Given the description of an element on the screen output the (x, y) to click on. 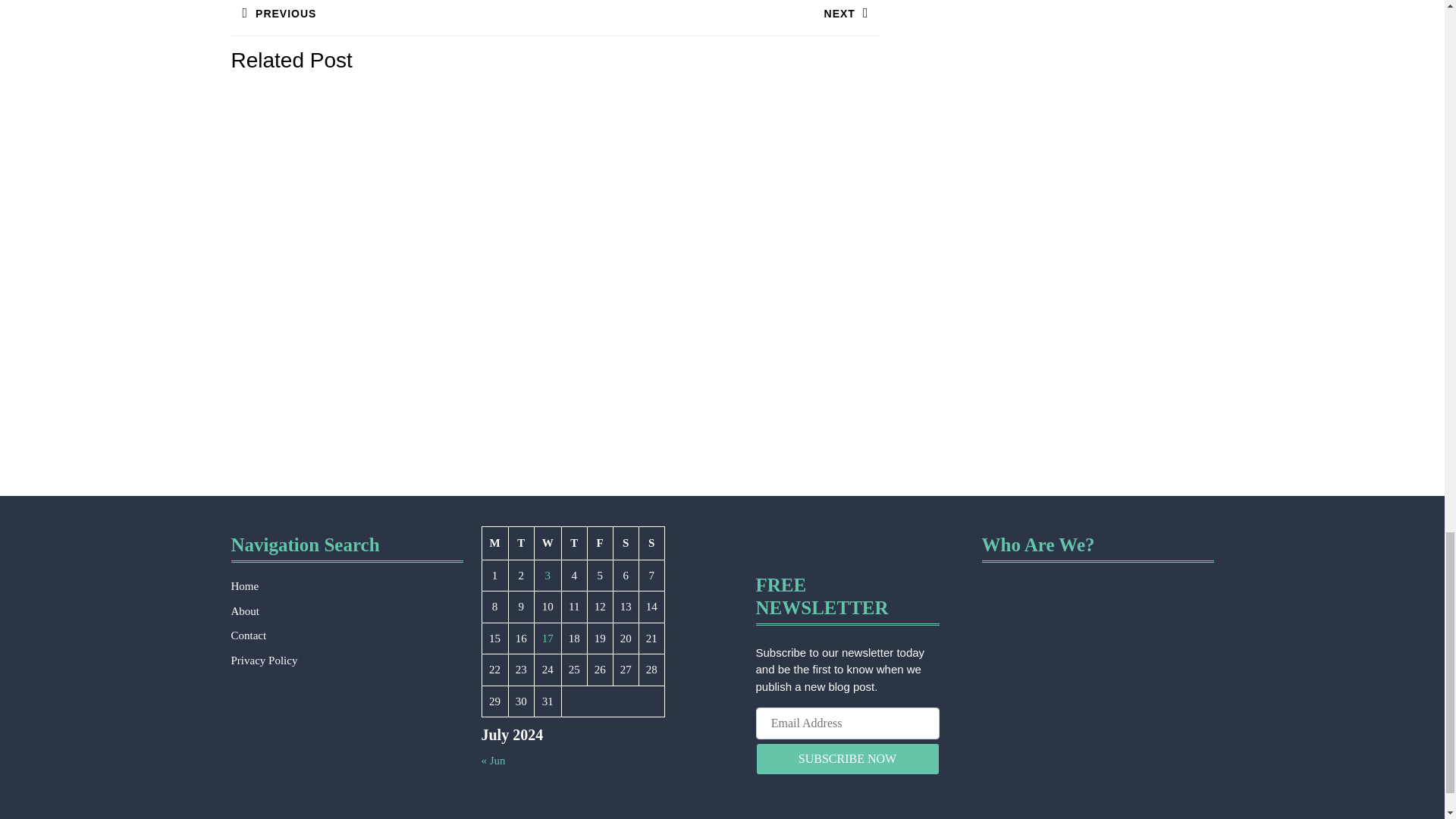
Sunday (392, 18)
Thursday (651, 543)
Monday (573, 543)
Friday (494, 543)
Saturday (599, 543)
Wednesday (716, 18)
Tuesday (625, 543)
SUBSCRIBE NOW (547, 543)
